Given the description of an element on the screen output the (x, y) to click on. 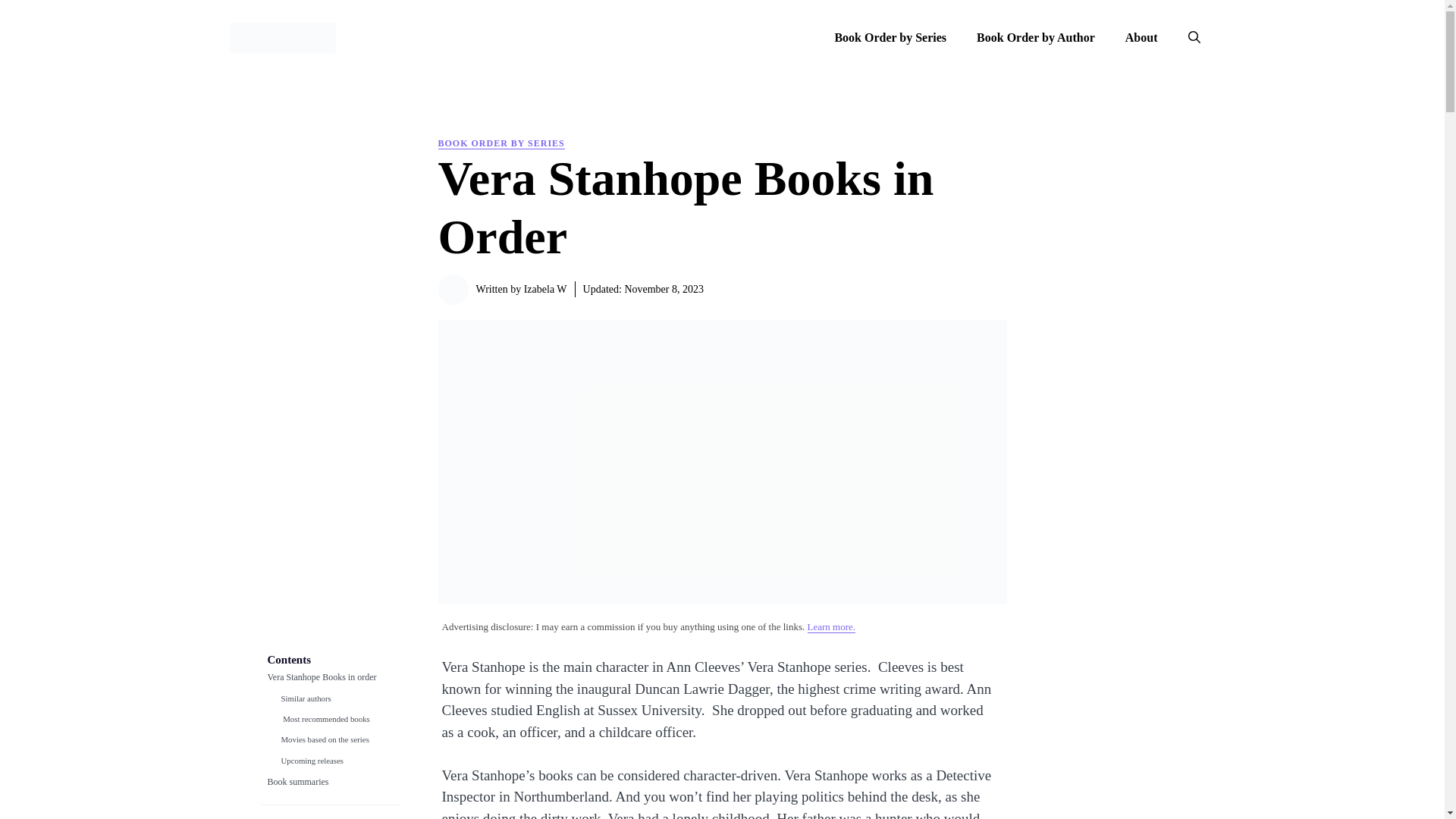
Izabela W (545, 288)
Book summaries (297, 785)
Book Order by Author (1034, 37)
Book Order by Series (889, 37)
About (1141, 37)
Learn more. (832, 626)
Similar authors (305, 702)
Movies based on the series (324, 743)
